Given the description of an element on the screen output the (x, y) to click on. 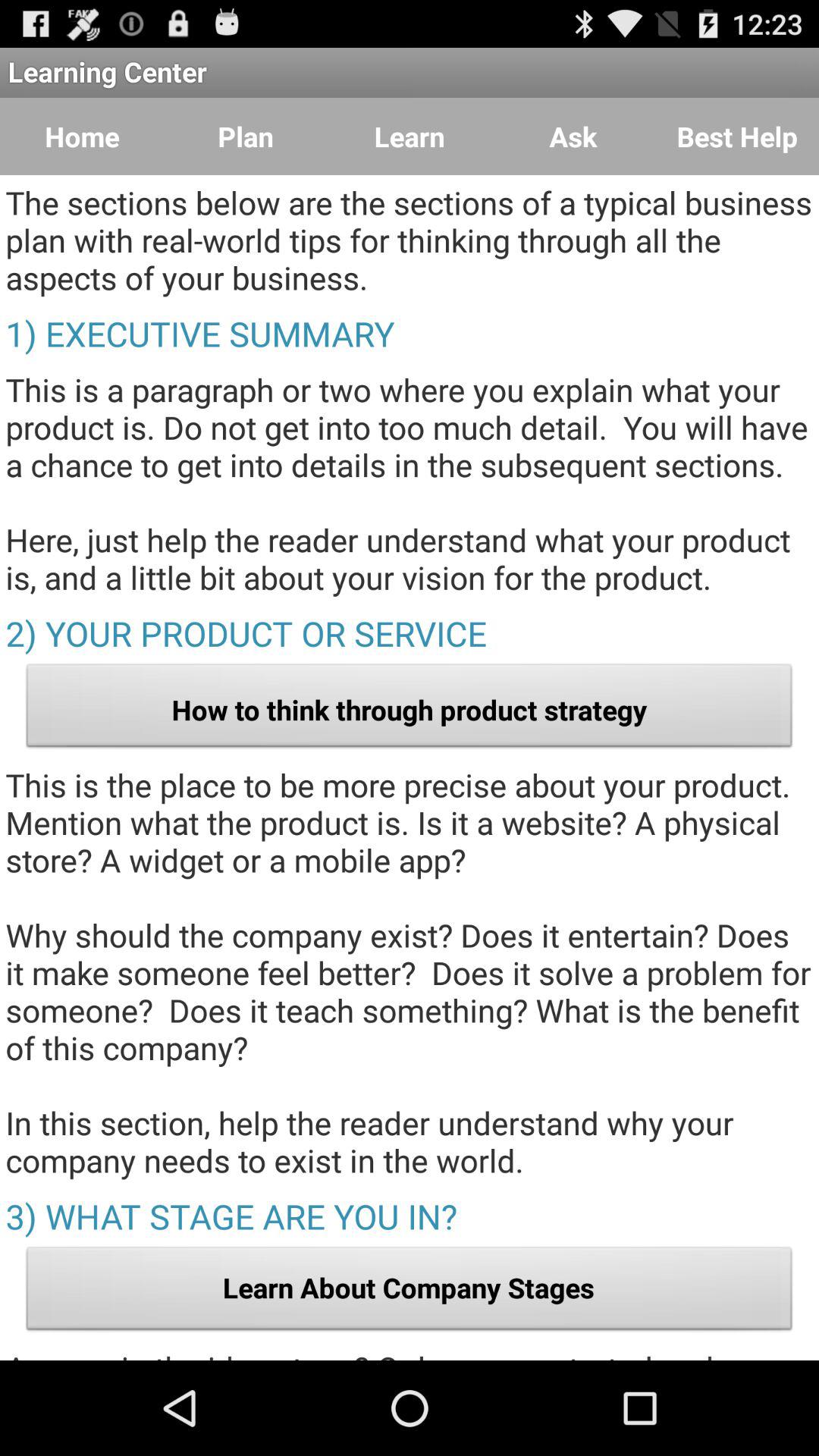
flip to best help button (737, 136)
